Given the description of an element on the screen output the (x, y) to click on. 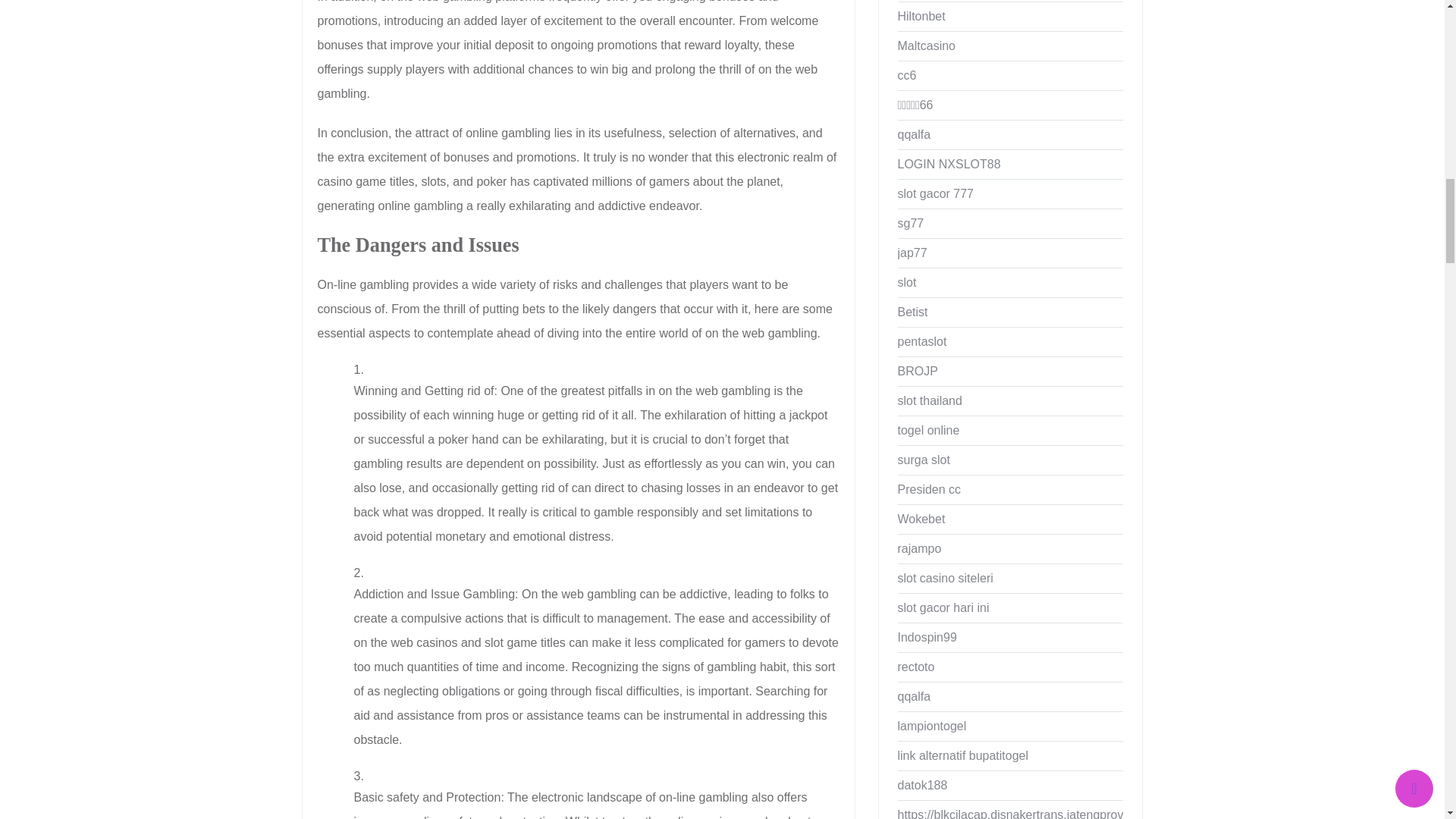
cc6 (1011, 75)
Maltcasino (1011, 45)
LOGIN NXSLOT88 (1011, 164)
jap77 (1011, 253)
qqalfa (1011, 134)
Hiltonbet (1011, 16)
slot gacor 777 (1011, 193)
sg77 (1011, 223)
